Given the description of an element on the screen output the (x, y) to click on. 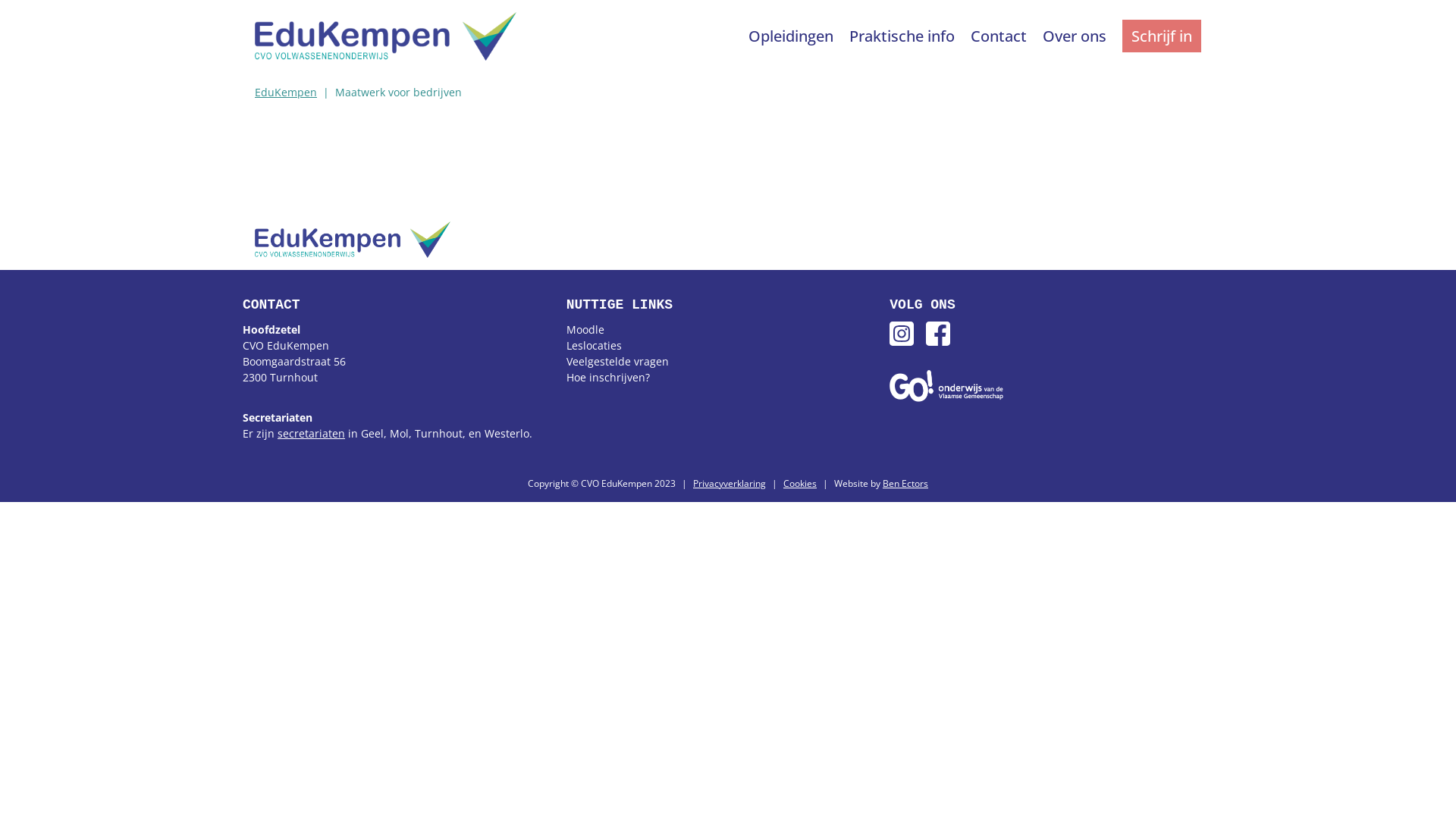
Praktische info Element type: text (903, 35)
Hoe inschrijven? Element type: text (607, 377)
Veelgestelde vragen Element type: text (617, 361)
Moodle Element type: text (585, 329)
Opleidingen Element type: text (792, 35)
Cookies Element type: text (799, 483)
Over ons Element type: text (1076, 35)
Privacyverklaring Element type: text (729, 483)
Ben Ectors Element type: text (905, 482)
Leslocaties Element type: text (593, 345)
secretariaten Element type: text (311, 433)
Schrijf in Element type: text (1161, 35)
Contact Element type: text (1000, 35)
EduKempen Element type: text (285, 92)
